Given the description of an element on the screen output the (x, y) to click on. 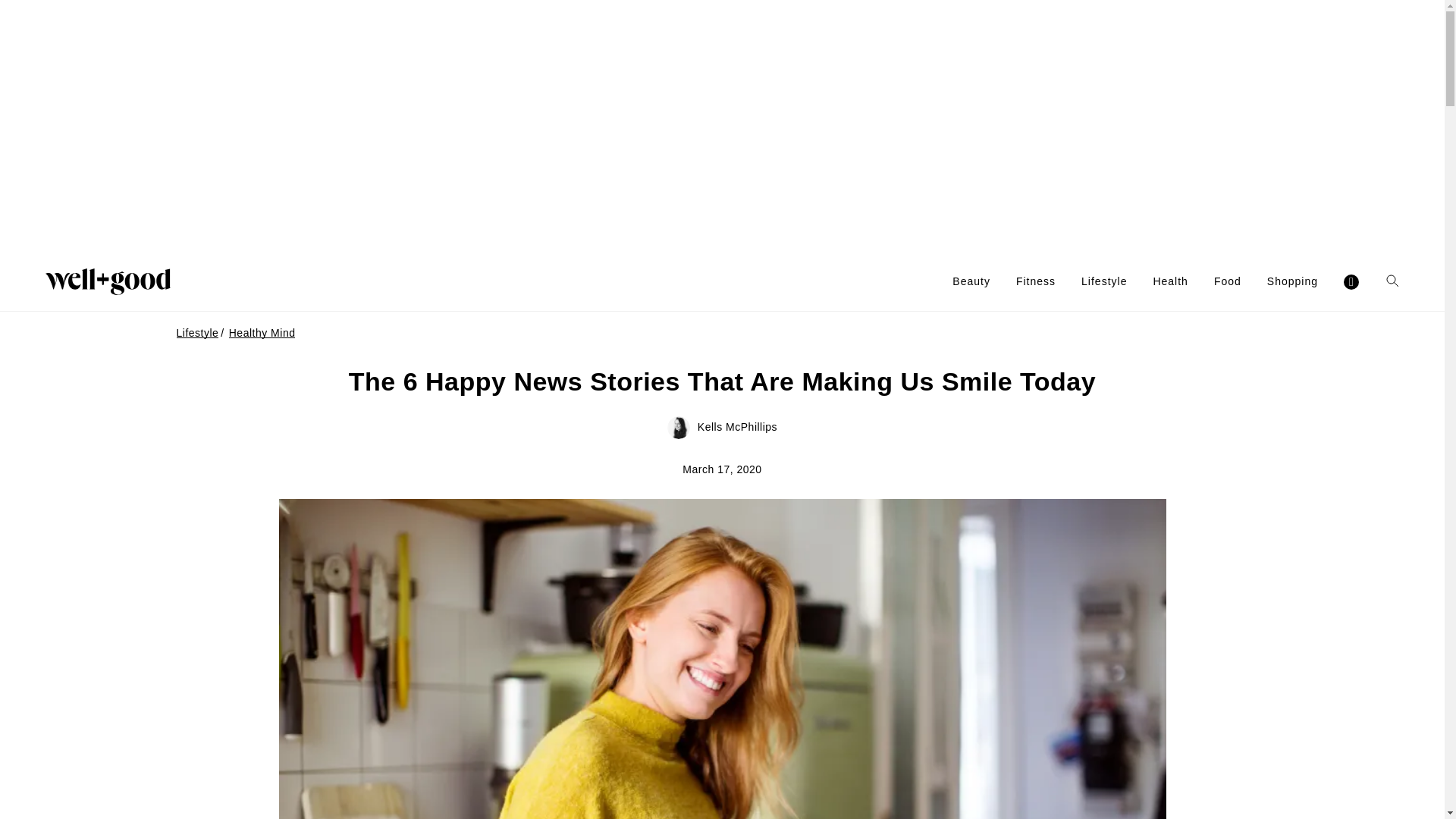
Health (1170, 281)
Lifestyle (1103, 281)
Beauty (971, 281)
Shopping (1291, 281)
Fitness (1035, 281)
Food (1227, 281)
